Given the description of an element on the screen output the (x, y) to click on. 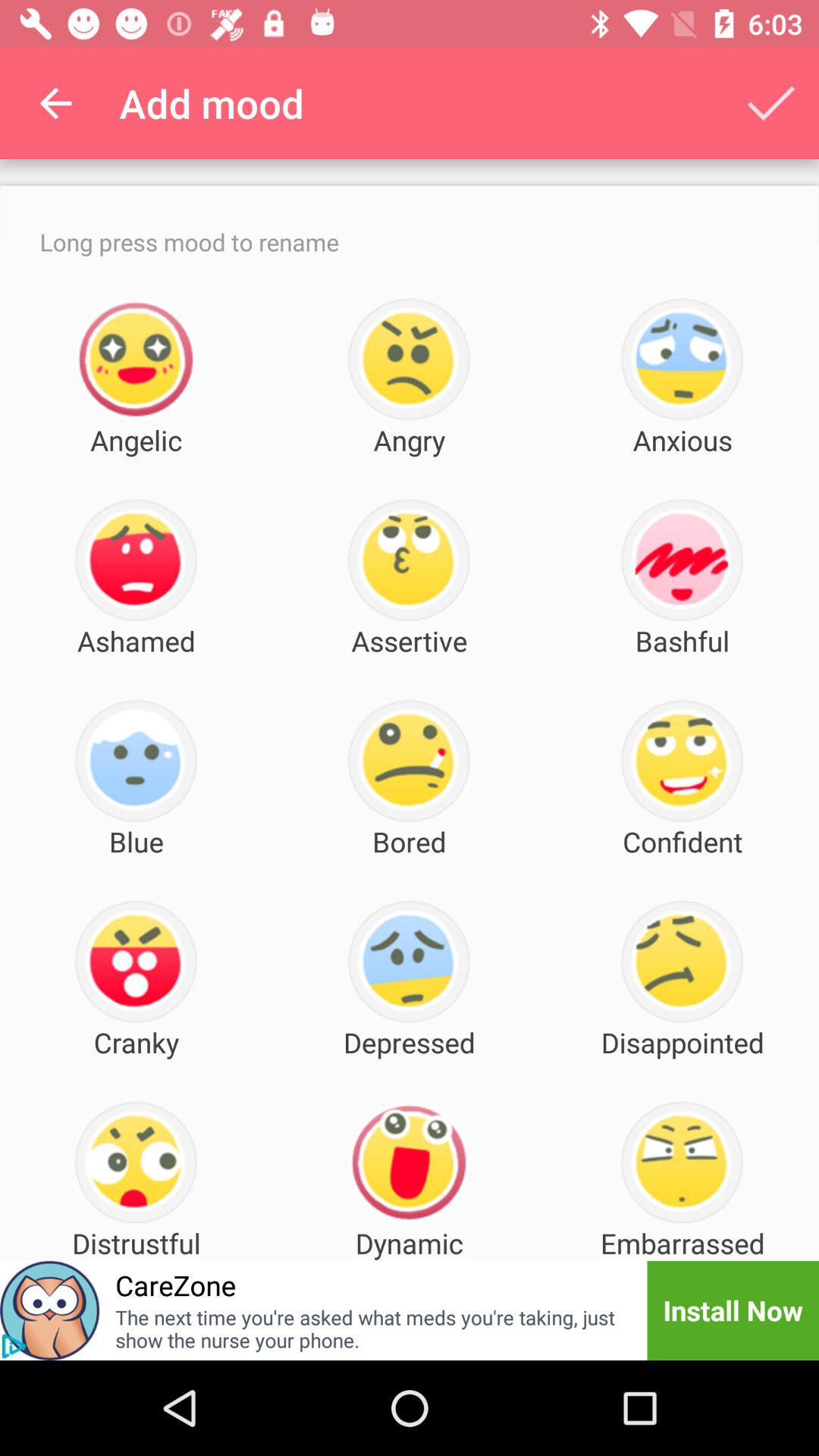
open link (14, 1346)
